Given the description of an element on the screen output the (x, y) to click on. 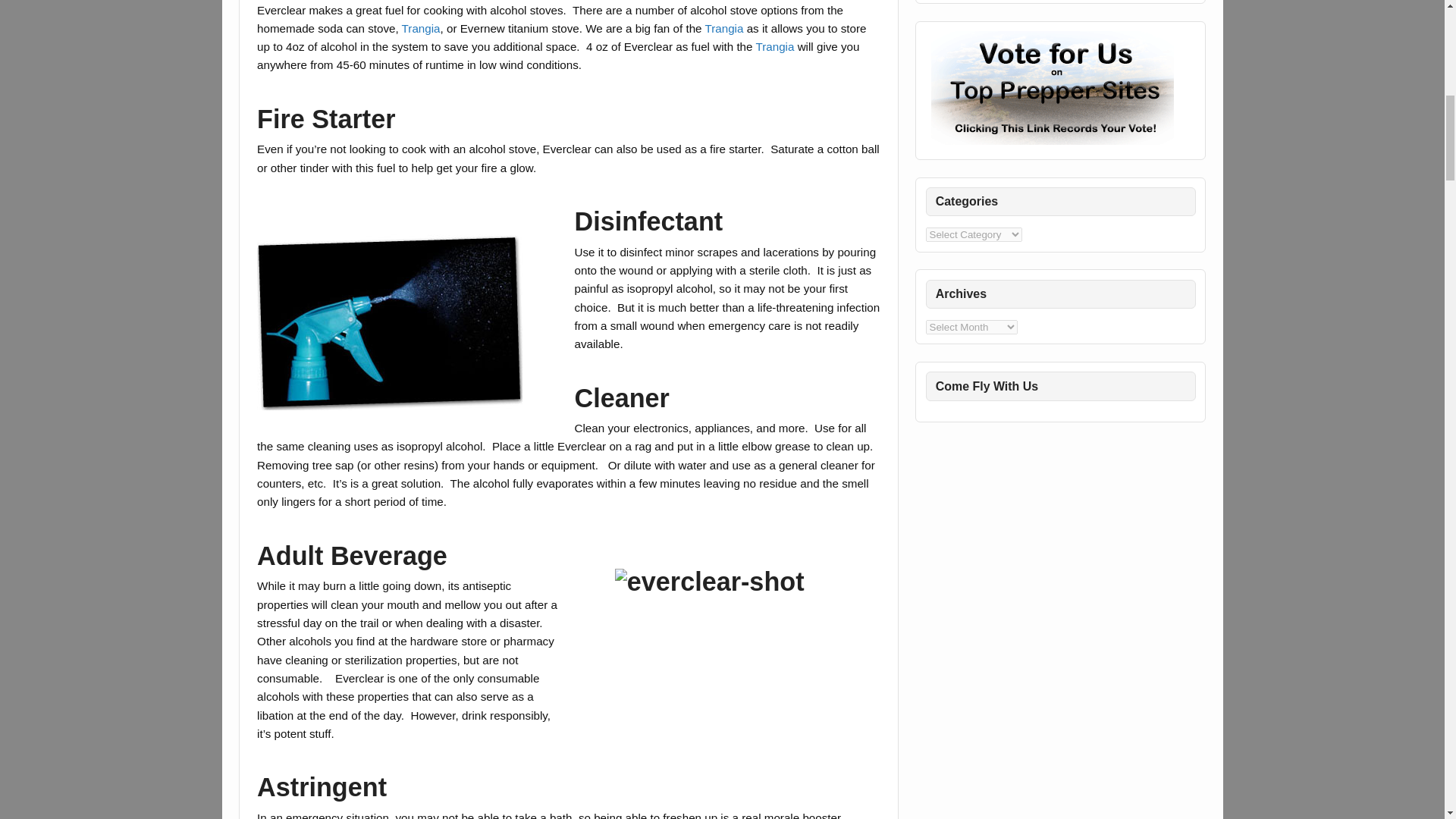
Trangia (774, 46)
Trangia (723, 28)
Trangia (421, 28)
